Given the description of an element on the screen output the (x, y) to click on. 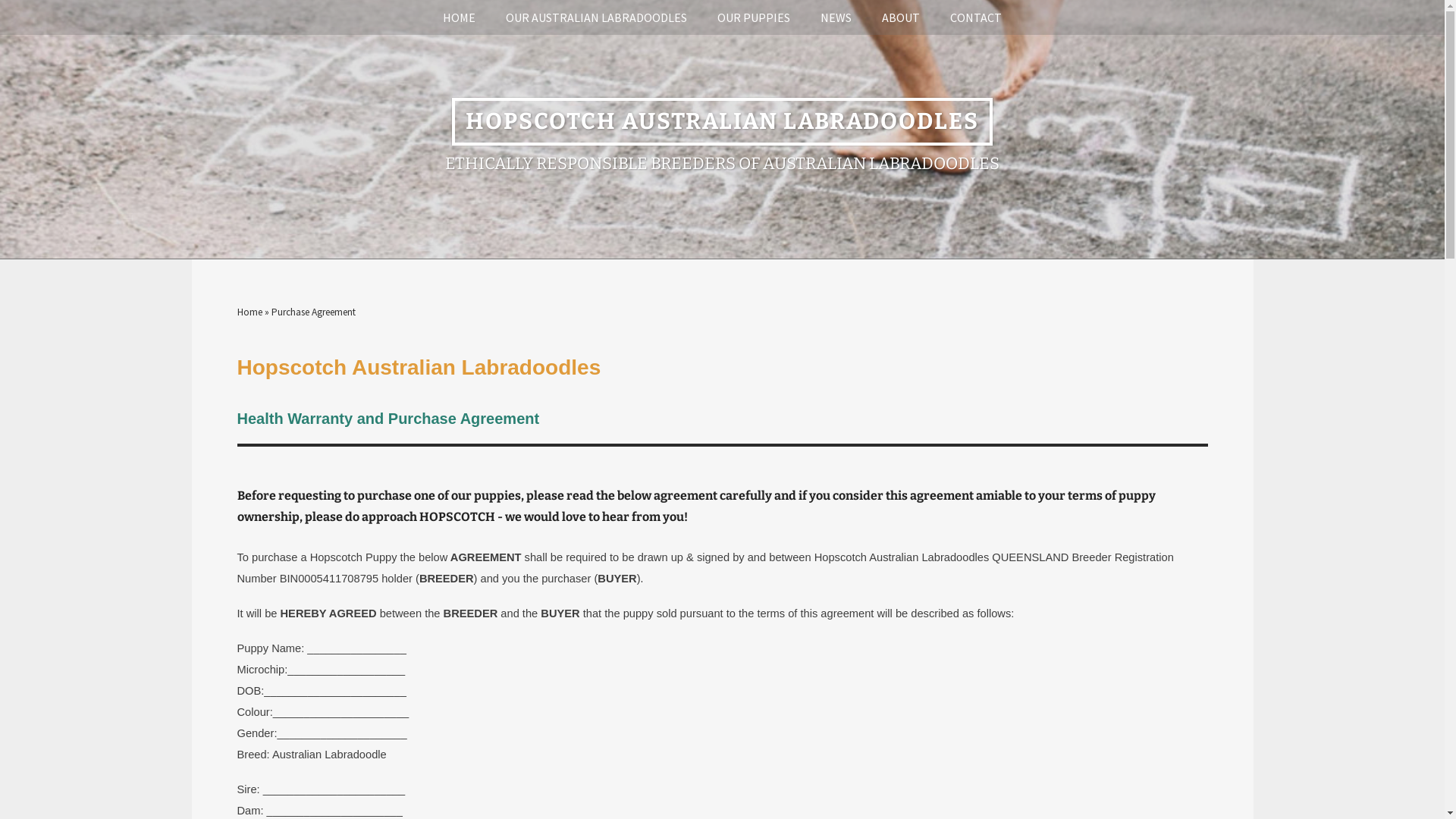
HOME Element type: text (458, 17)
ABOUT Element type: text (900, 17)
CONTACT Element type: text (975, 17)
Purchase Agreement Element type: text (313, 311)
OUR AUSTRALIAN LABRADOODLES Element type: text (596, 17)
NEWS Element type: text (835, 17)
Home Element type: text (248, 311)
HOPSCOTCH AUSTRALIAN LABRADOODLES Element type: text (721, 123)
OUR PUPPIES Element type: text (753, 17)
